Given the description of an element on the screen output the (x, y) to click on. 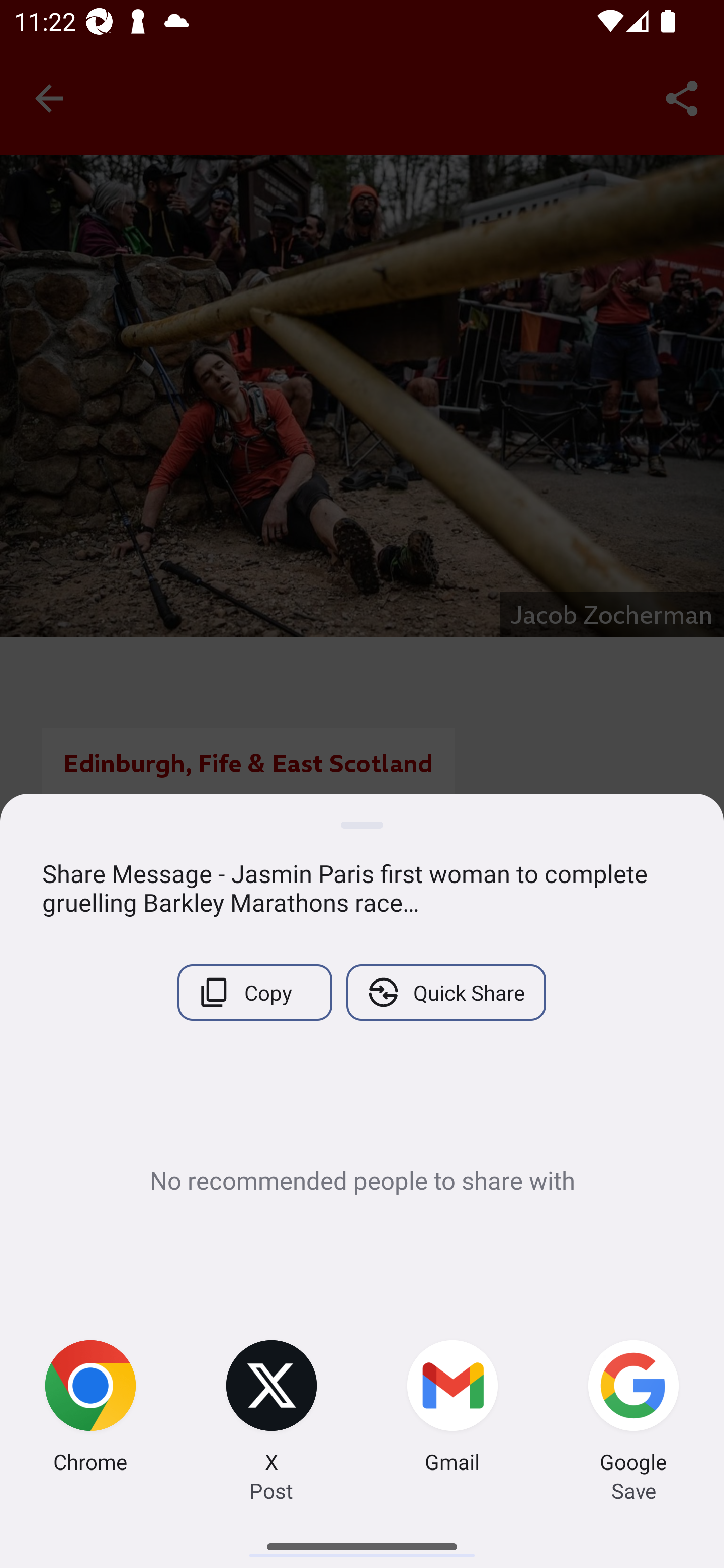
Copy (254, 992)
Quick Share (445, 992)
Chrome (90, 1409)
X Post (271, 1409)
Gmail (452, 1409)
Google Save (633, 1409)
